Given the description of an element on the screen output the (x, y) to click on. 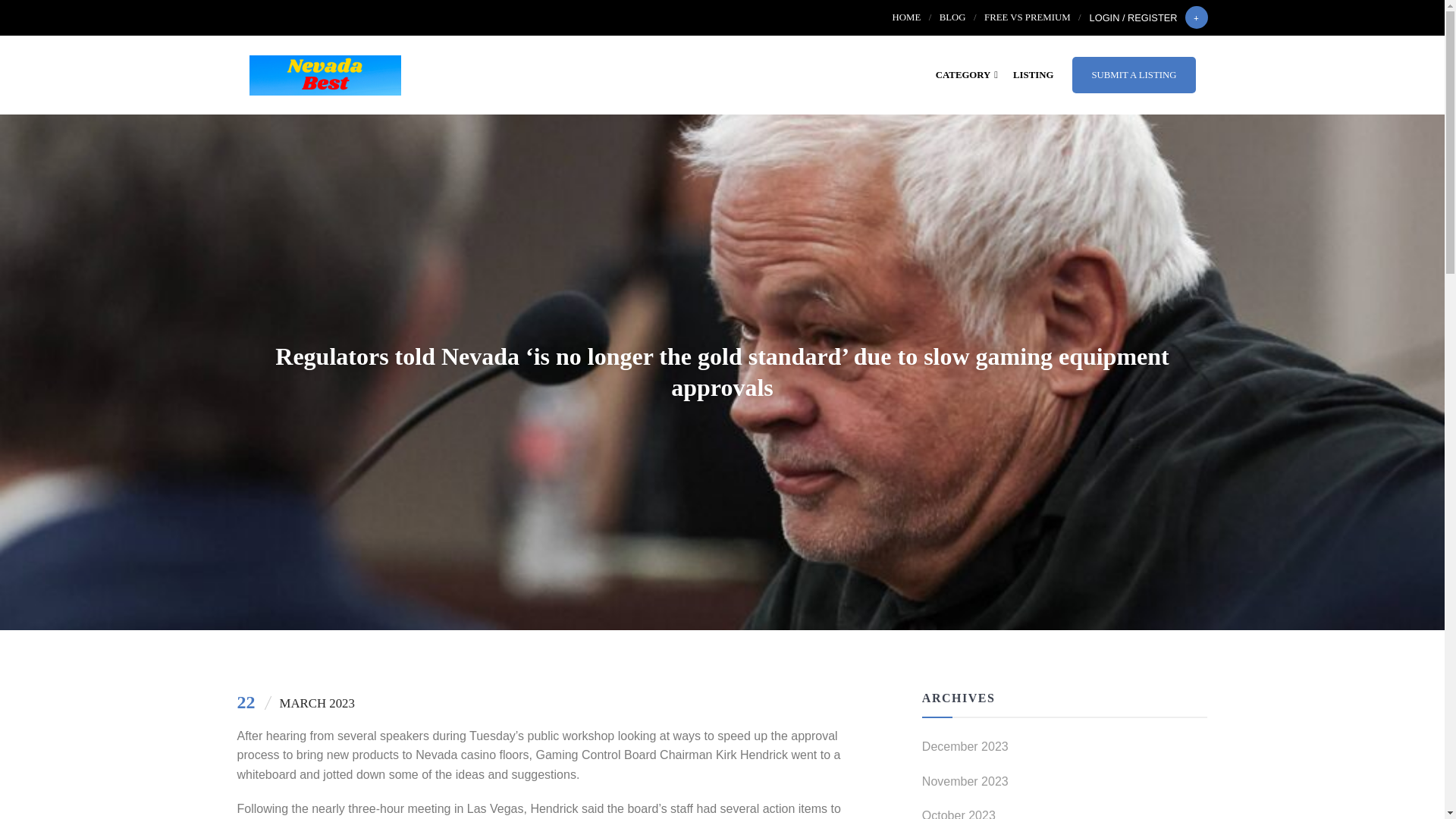
SUBMIT A LISTING (1133, 74)
FREE VS PREMIUM (1027, 17)
LISTING (1033, 74)
CATEGORY (967, 74)
November 2023 (1064, 785)
October 2023 (1064, 812)
December 2023 (1064, 750)
